Given the description of an element on the screen output the (x, y) to click on. 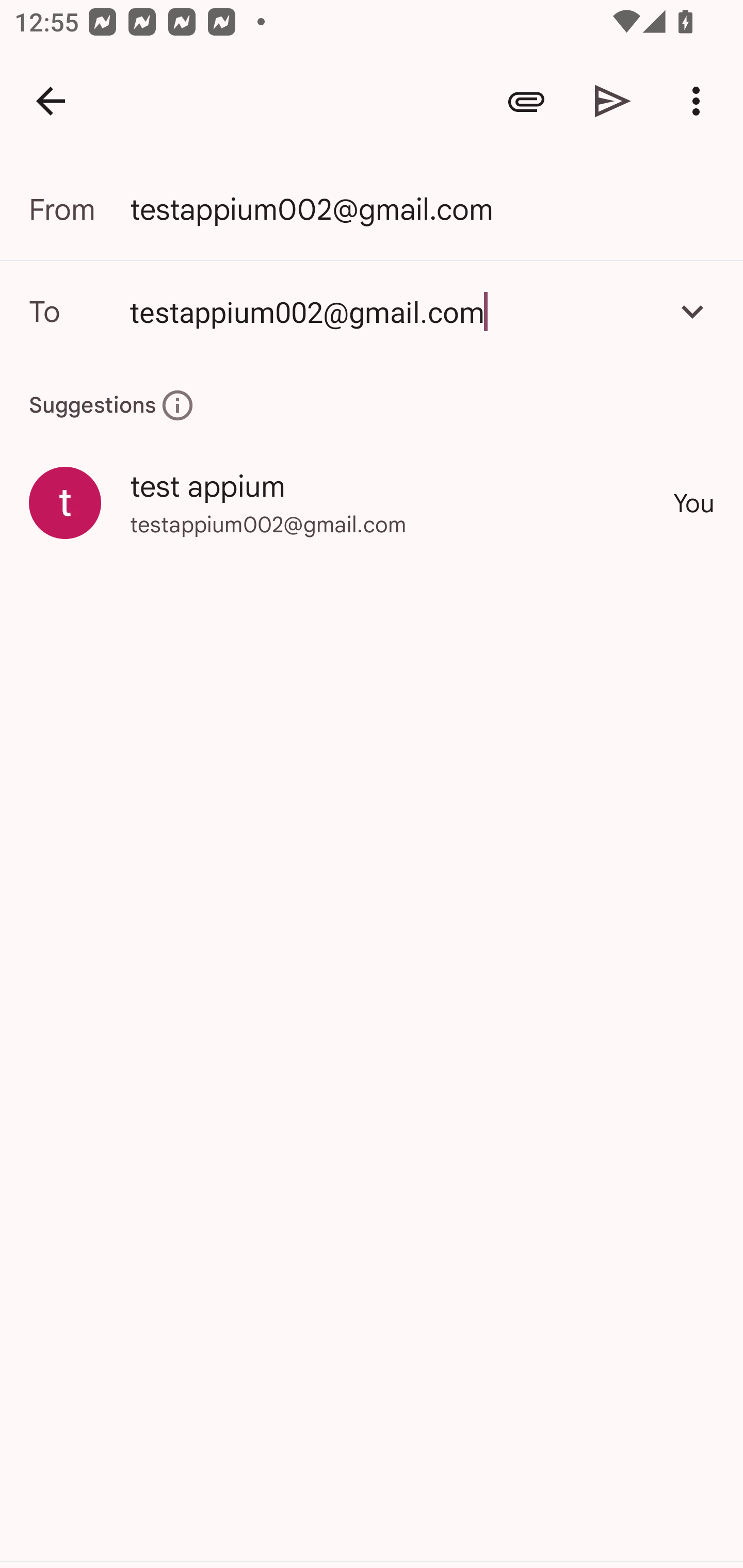
Navigate up (50, 101)
Attach file (525, 101)
Send (612, 101)
More options (699, 101)
From (79, 209)
Add Cc/Bcc (692, 311)
testappium002@gmail.com (371, 311)
testappium002@gmail.com (393, 311)
How suggestions work (177, 405)
